Given the description of an element on the screen output the (x, y) to click on. 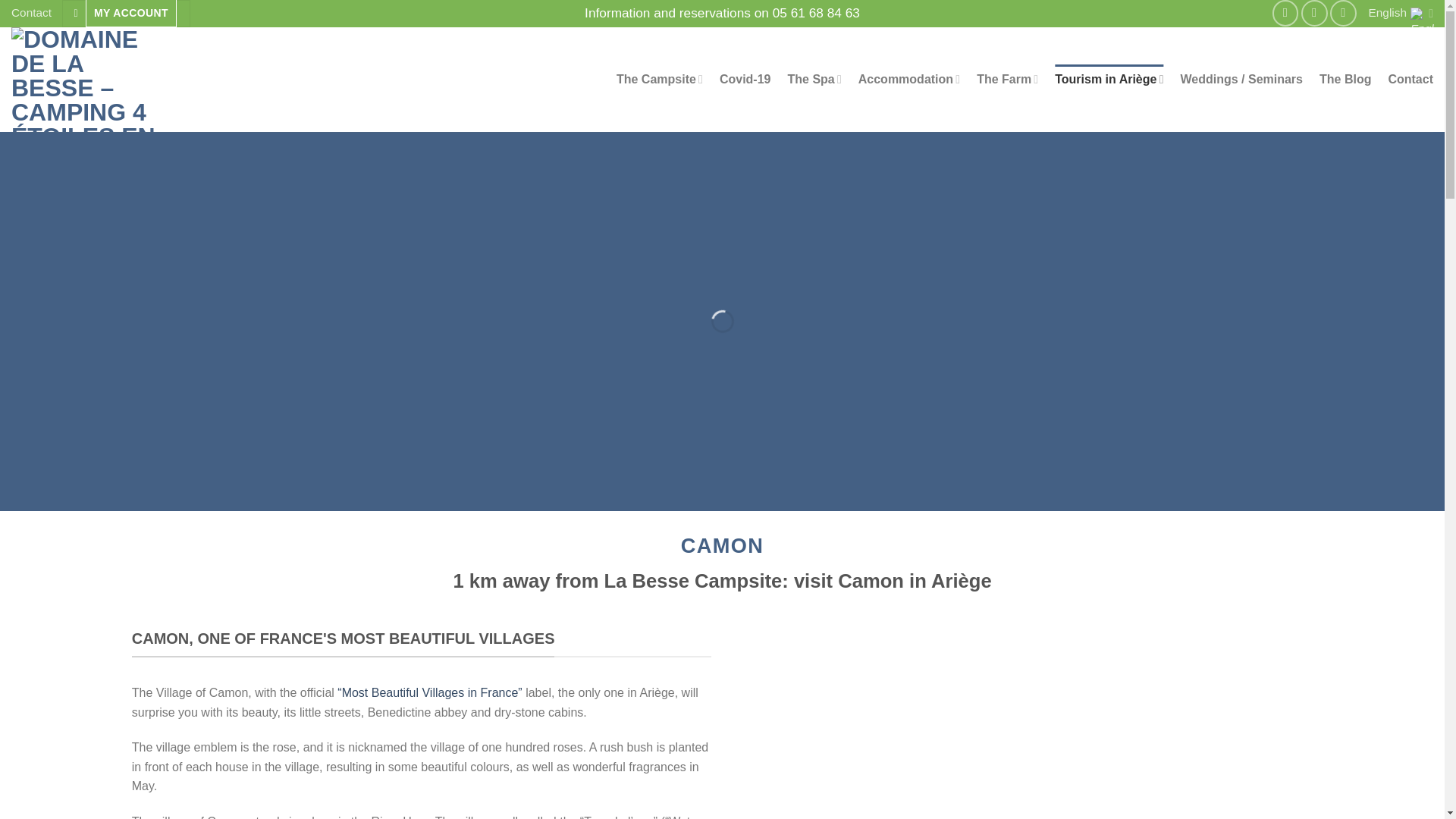
The Spa (814, 79)
05 61 68 84 63 (816, 12)
Accommodation (909, 79)
Covid-19 (745, 79)
The Campsite (659, 79)
Follow on Facebook (1285, 13)
Contact (30, 13)
Call us (1343, 13)
Follow on Instagram (1314, 13)
English (1400, 13)
